Given the description of an element on the screen output the (x, y) to click on. 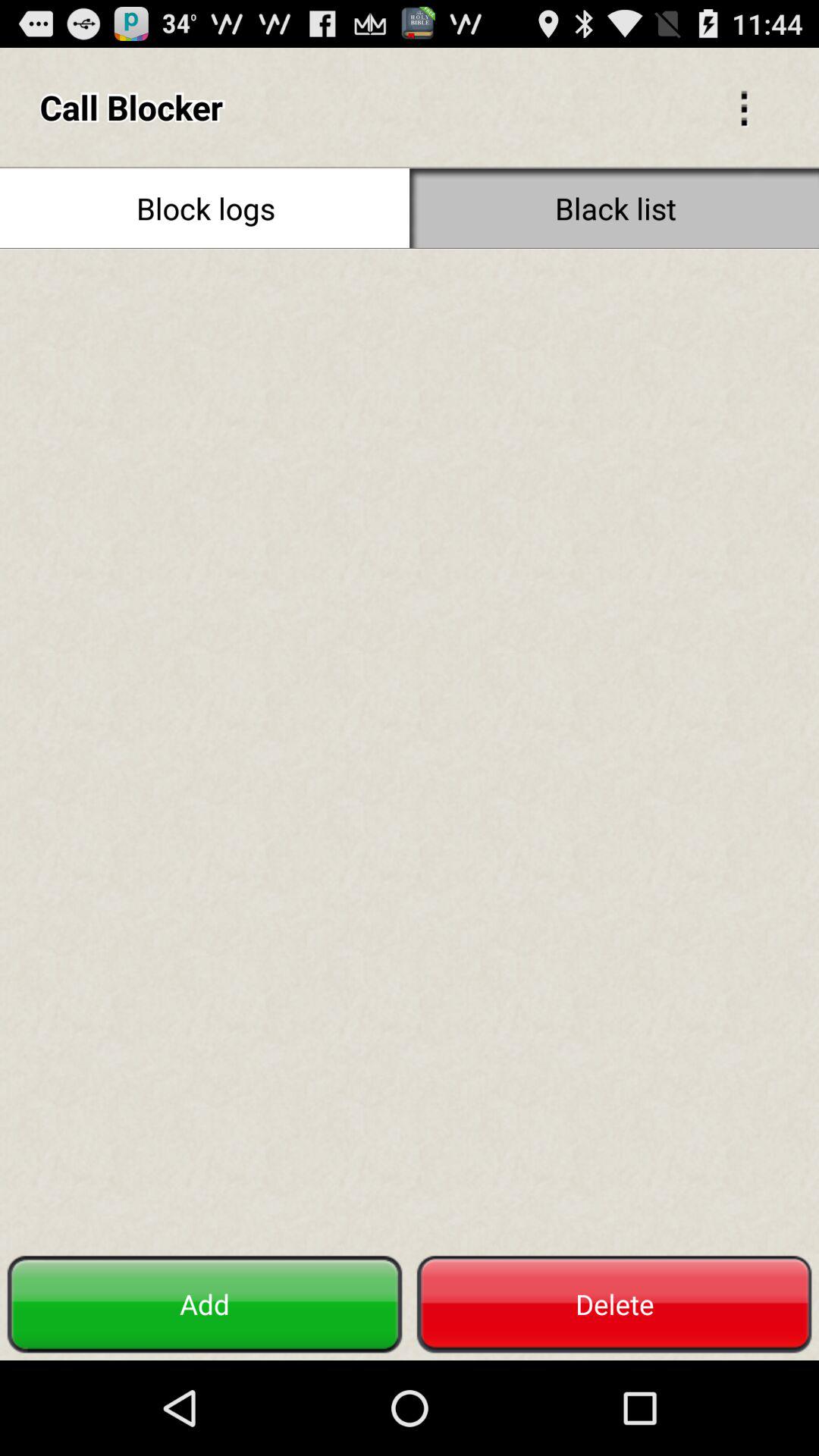
turn on delete (613, 1304)
